Given the description of an element on the screen output the (x, y) to click on. 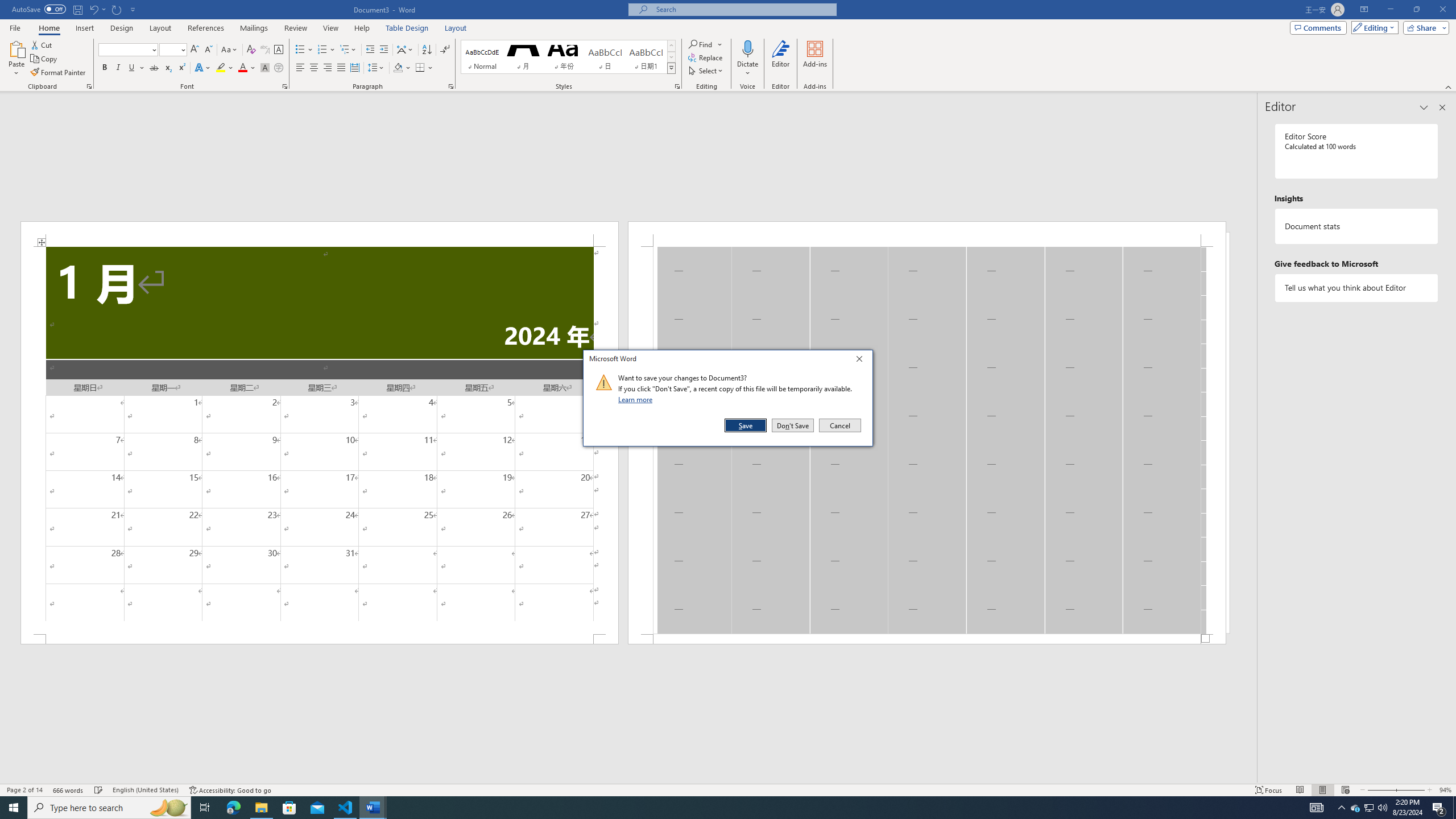
Running applications (717, 807)
